Given the description of an element on the screen output the (x, y) to click on. 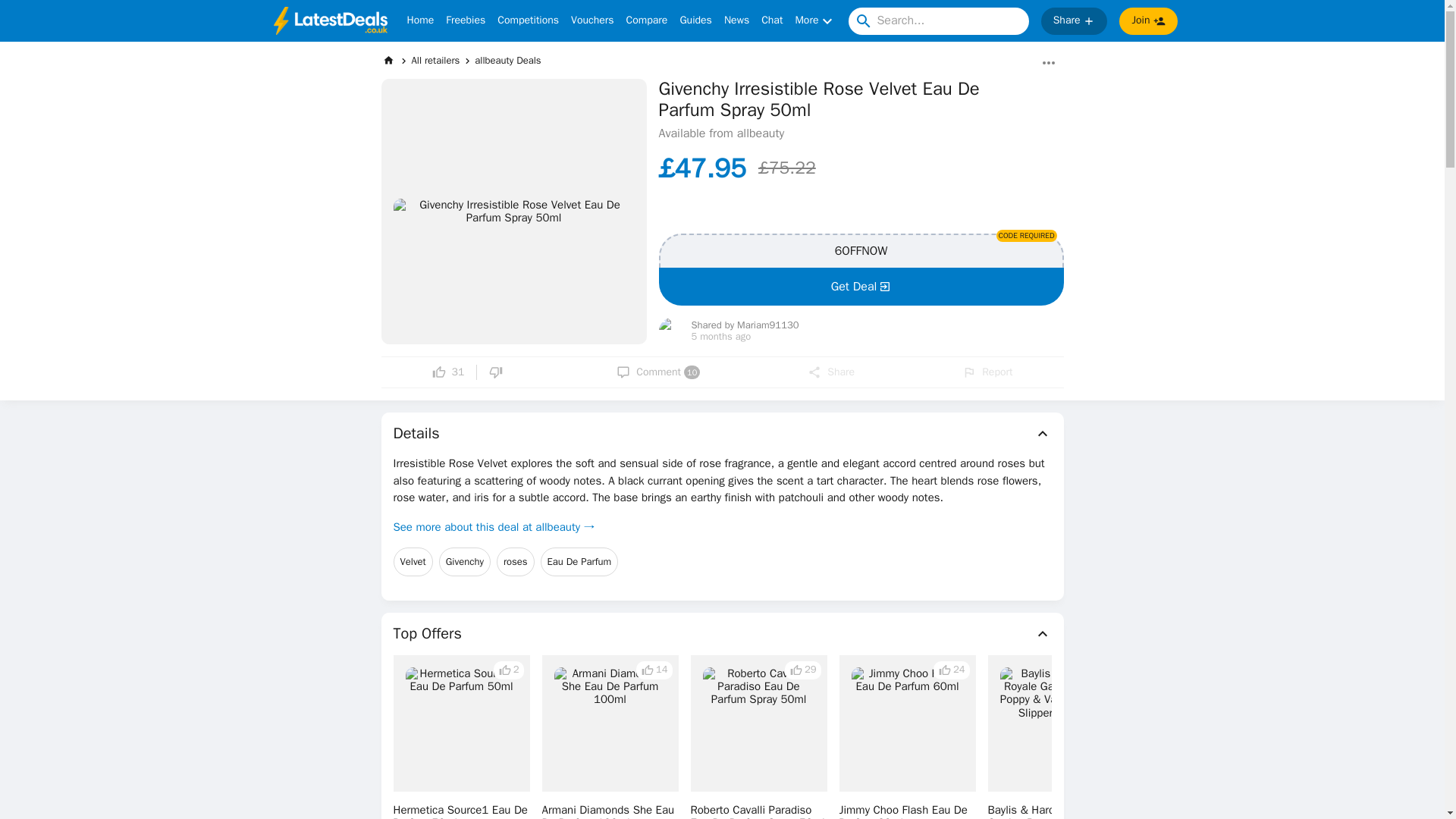
6OFFNOW (860, 250)
Freebies (464, 21)
Share (831, 371)
All retailers (435, 60)
Details (722, 434)
News (736, 21)
Join (1147, 21)
Velvet (412, 561)
Shared by Mariam91130 (745, 325)
Givenchy (464, 561)
